Given the description of an element on the screen output the (x, y) to click on. 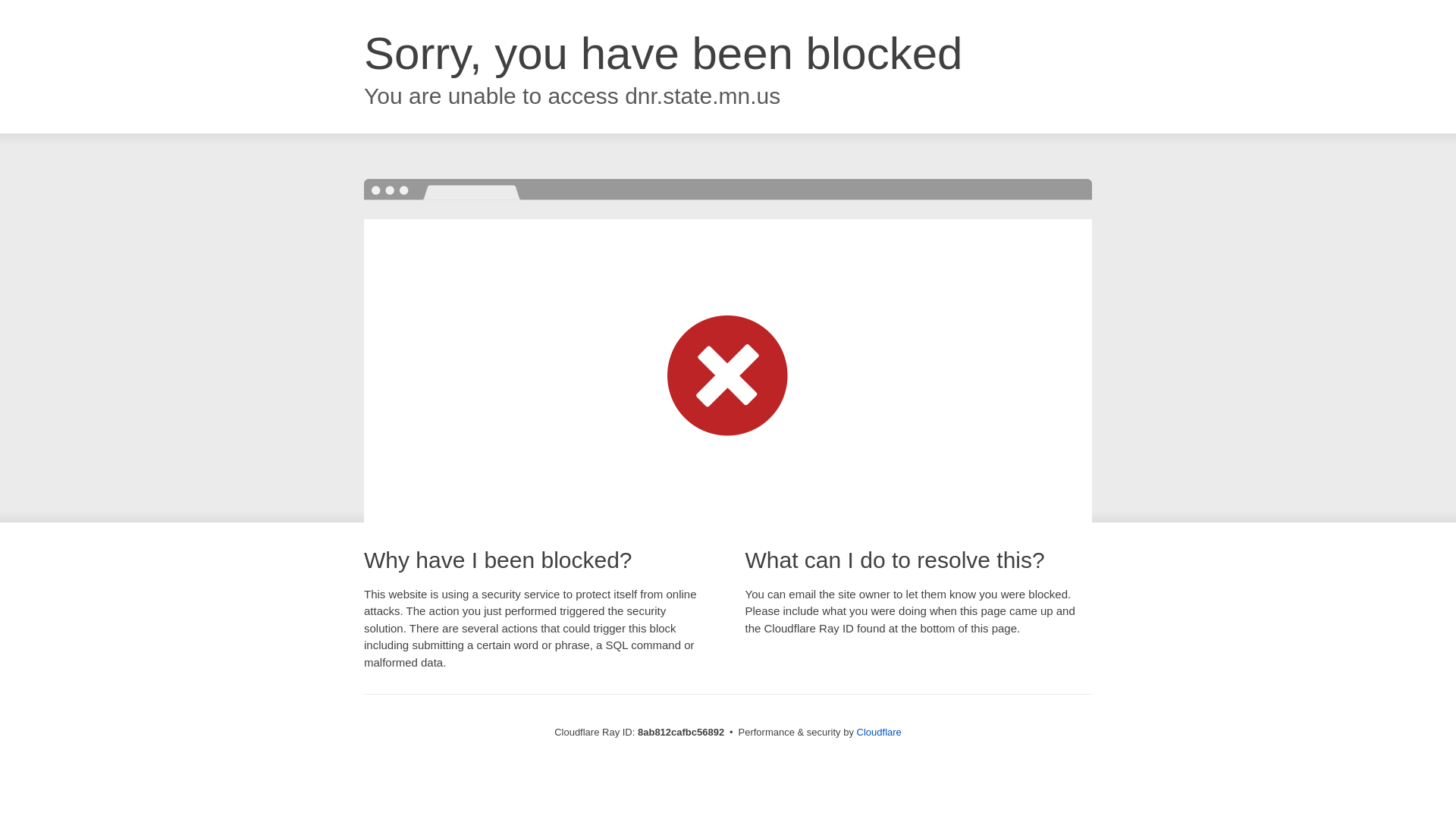
Cloudflare (879, 731)
